Given the description of an element on the screen output the (x, y) to click on. 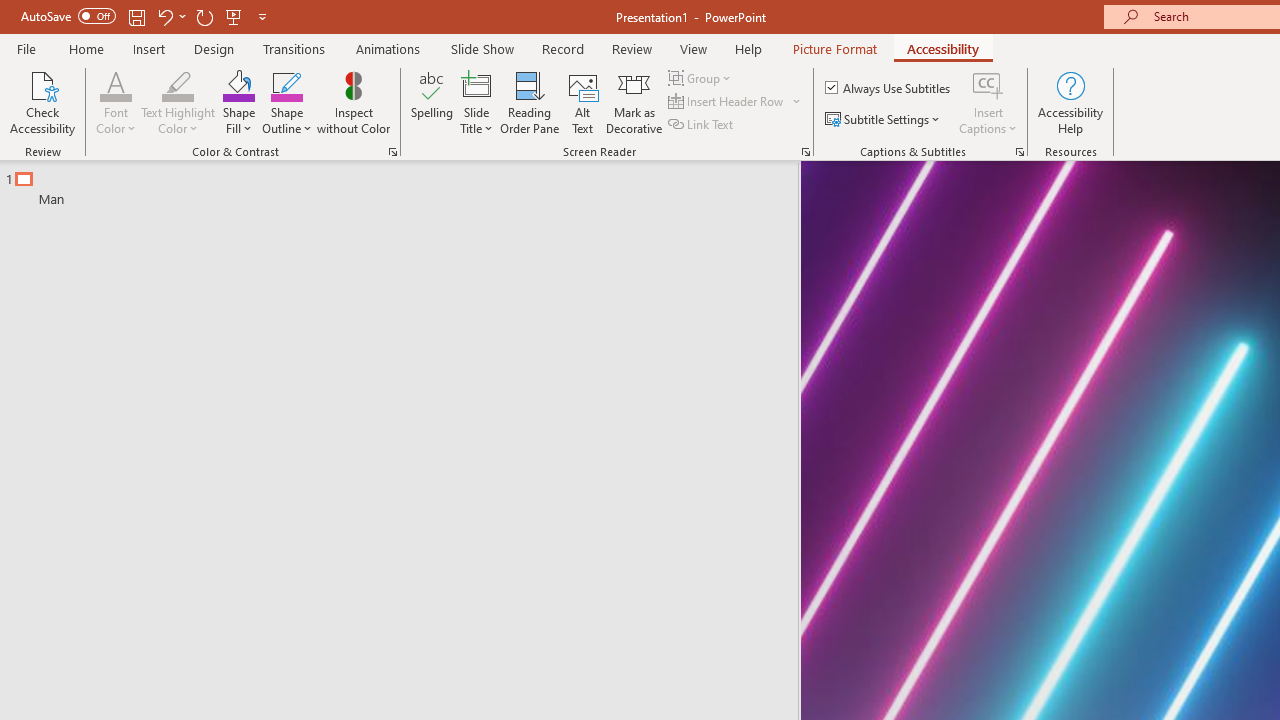
Insert Header Row (727, 101)
File Tab (26, 48)
Design (214, 48)
Inspect without Color (353, 102)
Insert Header Row (735, 101)
Always Use Subtitles (889, 87)
Subtitle Settings (884, 119)
Customize Quick Access Toolbar (262, 15)
Text Highlight Color (178, 84)
Undo (170, 15)
Accessibility Help (1070, 102)
Insert Captions (988, 84)
Save (136, 15)
Animations (388, 48)
